Given the description of an element on the screen output the (x, y) to click on. 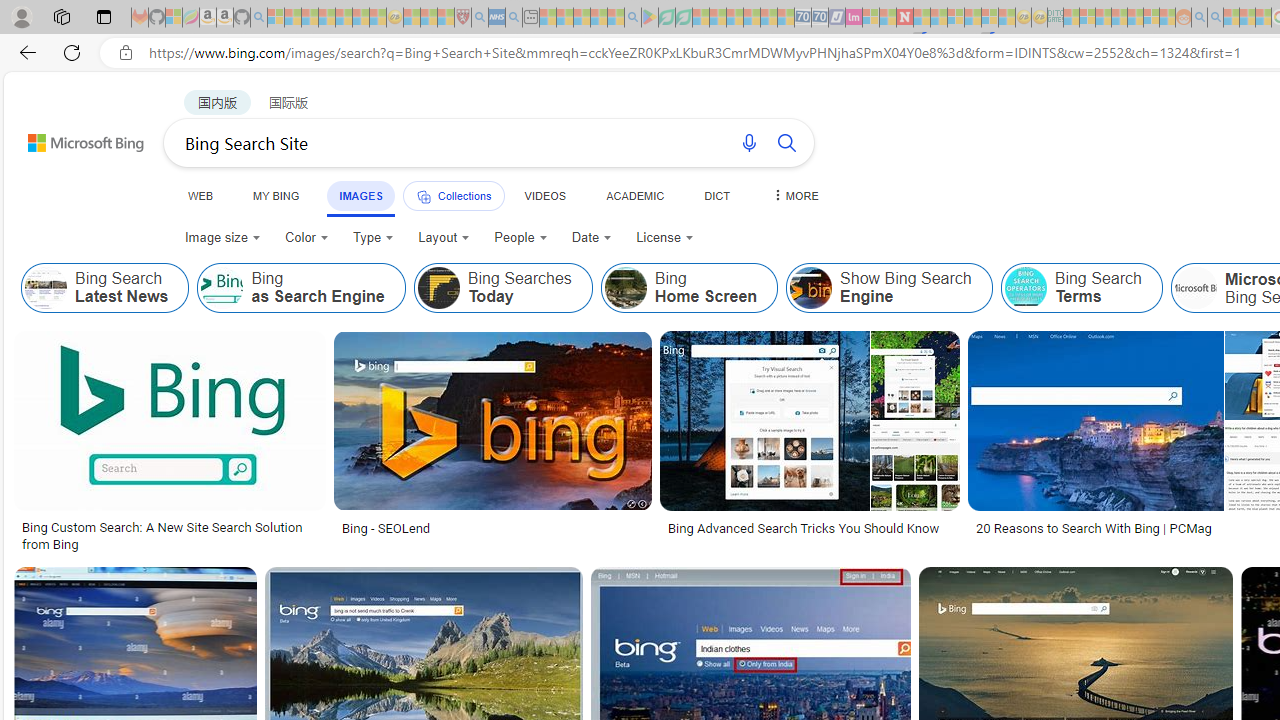
People (521, 237)
20 Reasons to Search With Bing | PCMag (1093, 528)
Bing Custom Search: A New Site Search Solution from Bing (169, 535)
Layout (443, 237)
Class: b_pri_nav_svg (423, 196)
utah sues federal government - Search - Sleeping (513, 17)
WEB (201, 195)
